Given the description of an element on the screen output the (x, y) to click on. 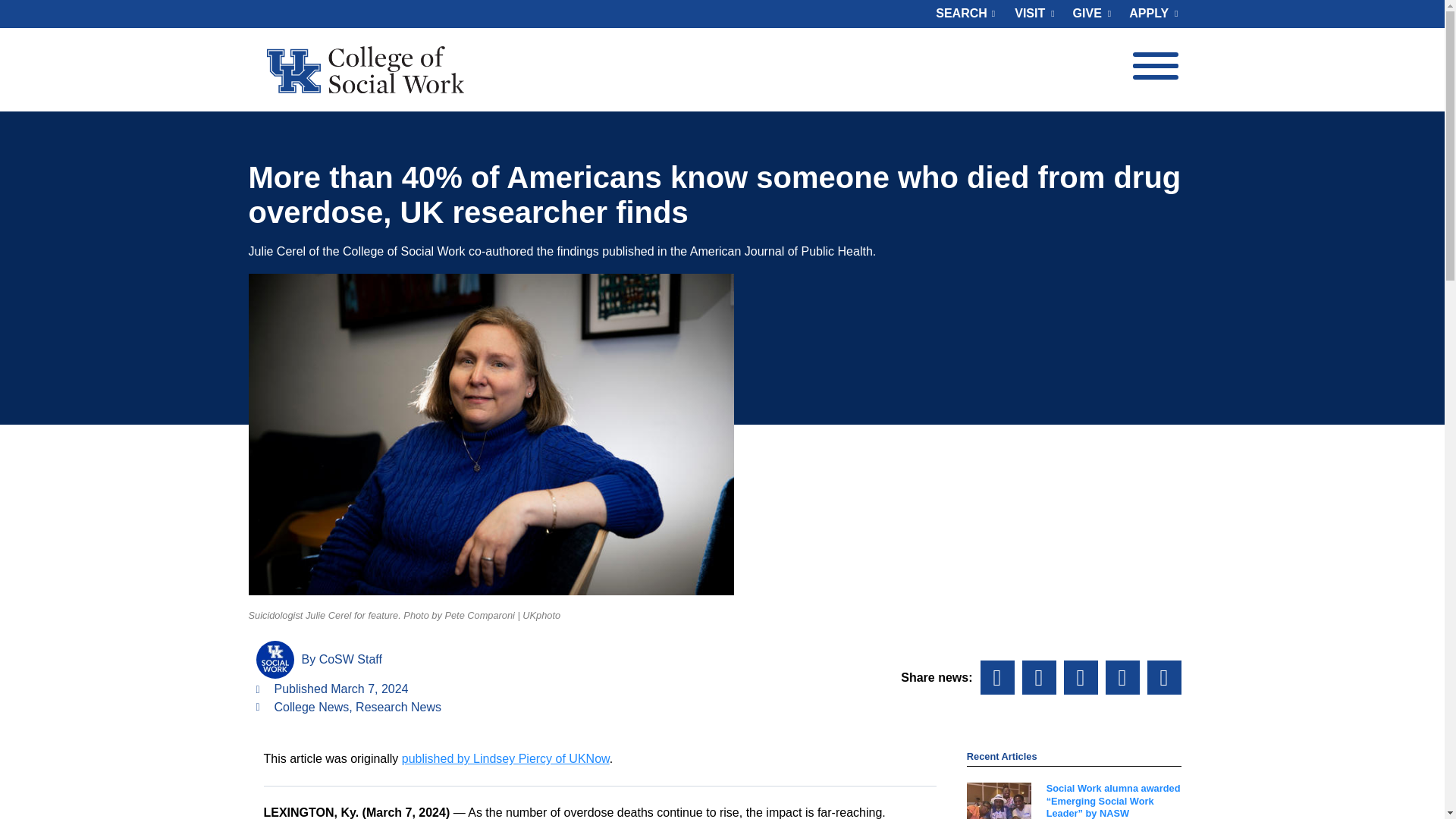
GIVE (1092, 13)
APPLY (1148, 13)
SEARCH (960, 13)
VISIT (1034, 13)
